Given the description of an element on the screen output the (x, y) to click on. 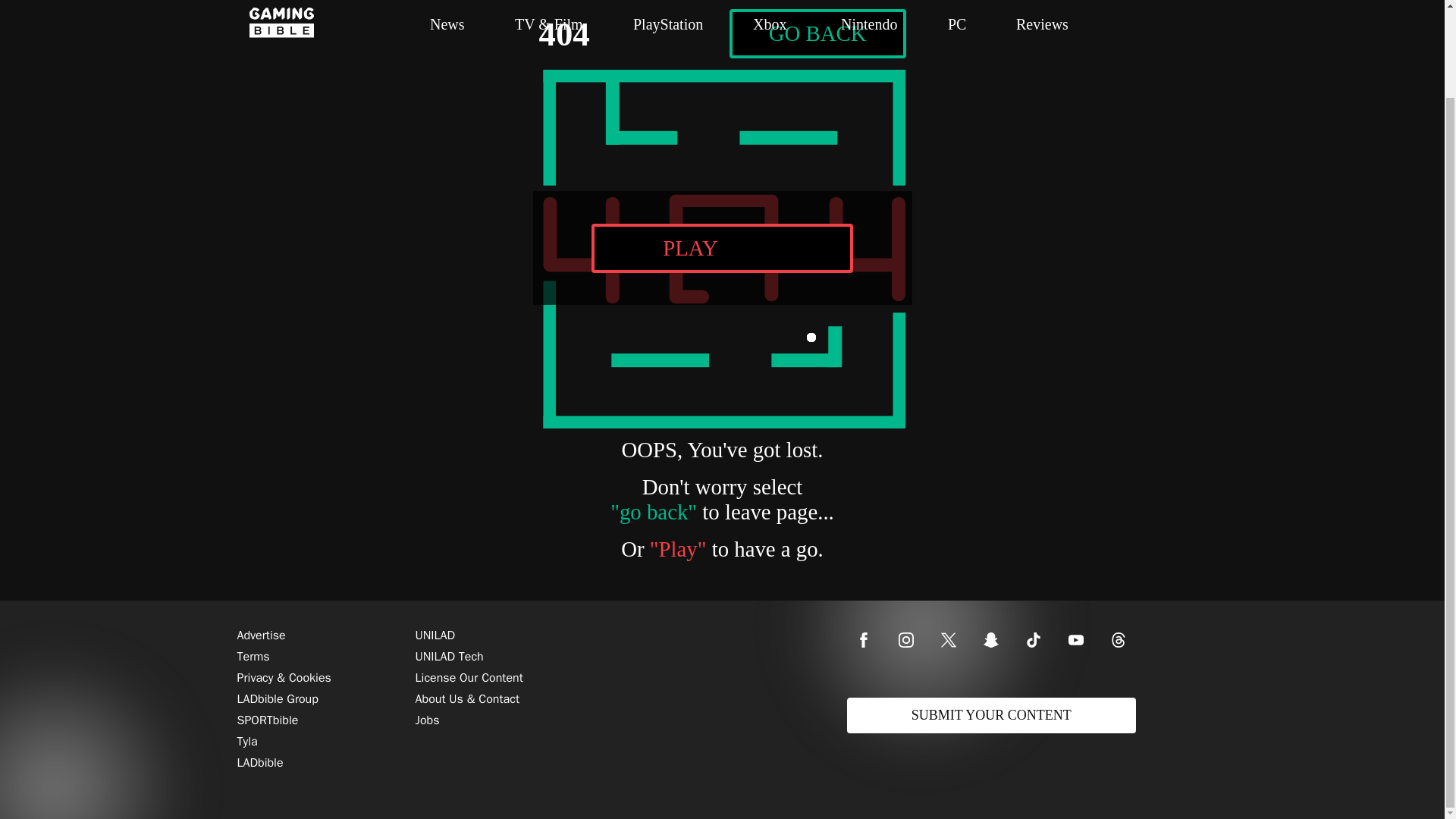
UNILAD Tech (721, 33)
Advertise (448, 656)
LADbible Group (260, 635)
UNILAD (276, 698)
GO BACK (434, 635)
License Our Content (817, 33)
LADbible (468, 677)
PLAY (258, 762)
SPORTbible (722, 246)
Tyla (266, 720)
Terms (246, 741)
Jobs (252, 656)
